Given the description of an element on the screen output the (x, y) to click on. 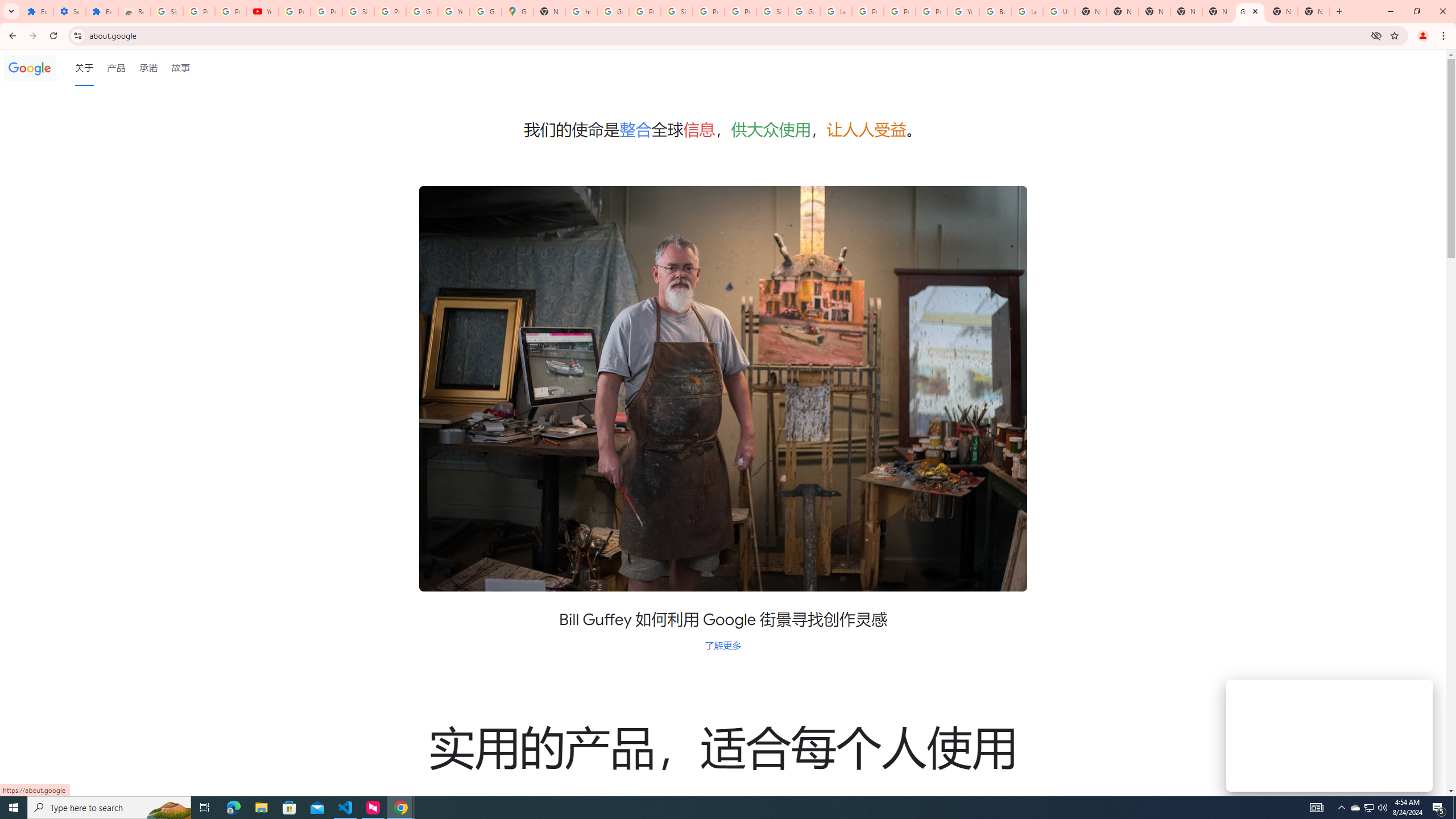
YouTube (262, 11)
New Tab (1313, 11)
Third-party cookies blocked (1376, 35)
Reviews: Helix Fruit Jump Arcade Game (134, 11)
